Given the description of an element on the screen output the (x, y) to click on. 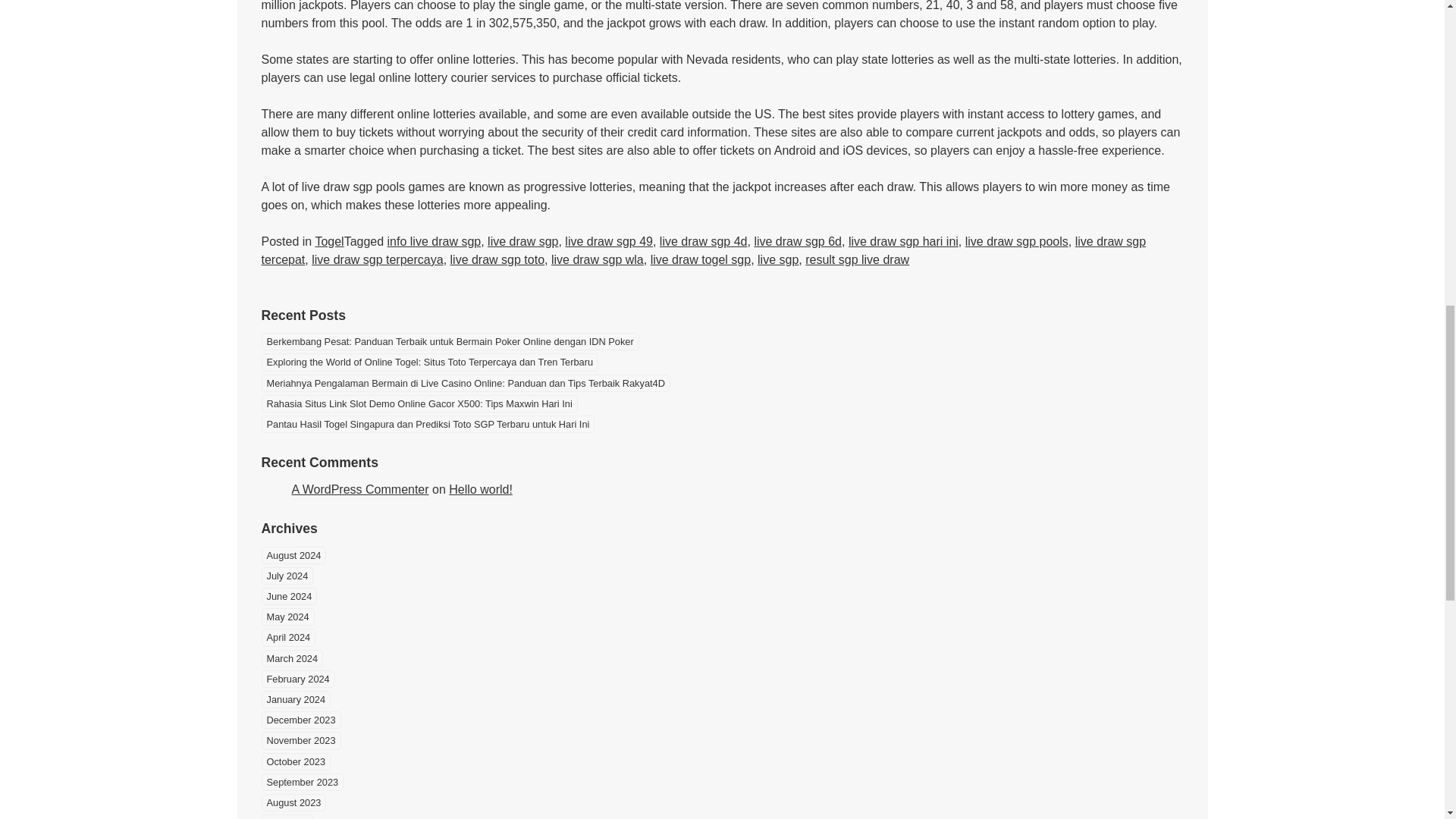
live draw sgp hari ini (903, 241)
live draw sgp 49 (608, 241)
info live draw sgp (434, 241)
live draw sgp (522, 241)
August 2024 (293, 555)
December 2023 (300, 719)
live draw togel sgp (700, 259)
live draw sgp toto (496, 259)
